Given the description of an element on the screen output the (x, y) to click on. 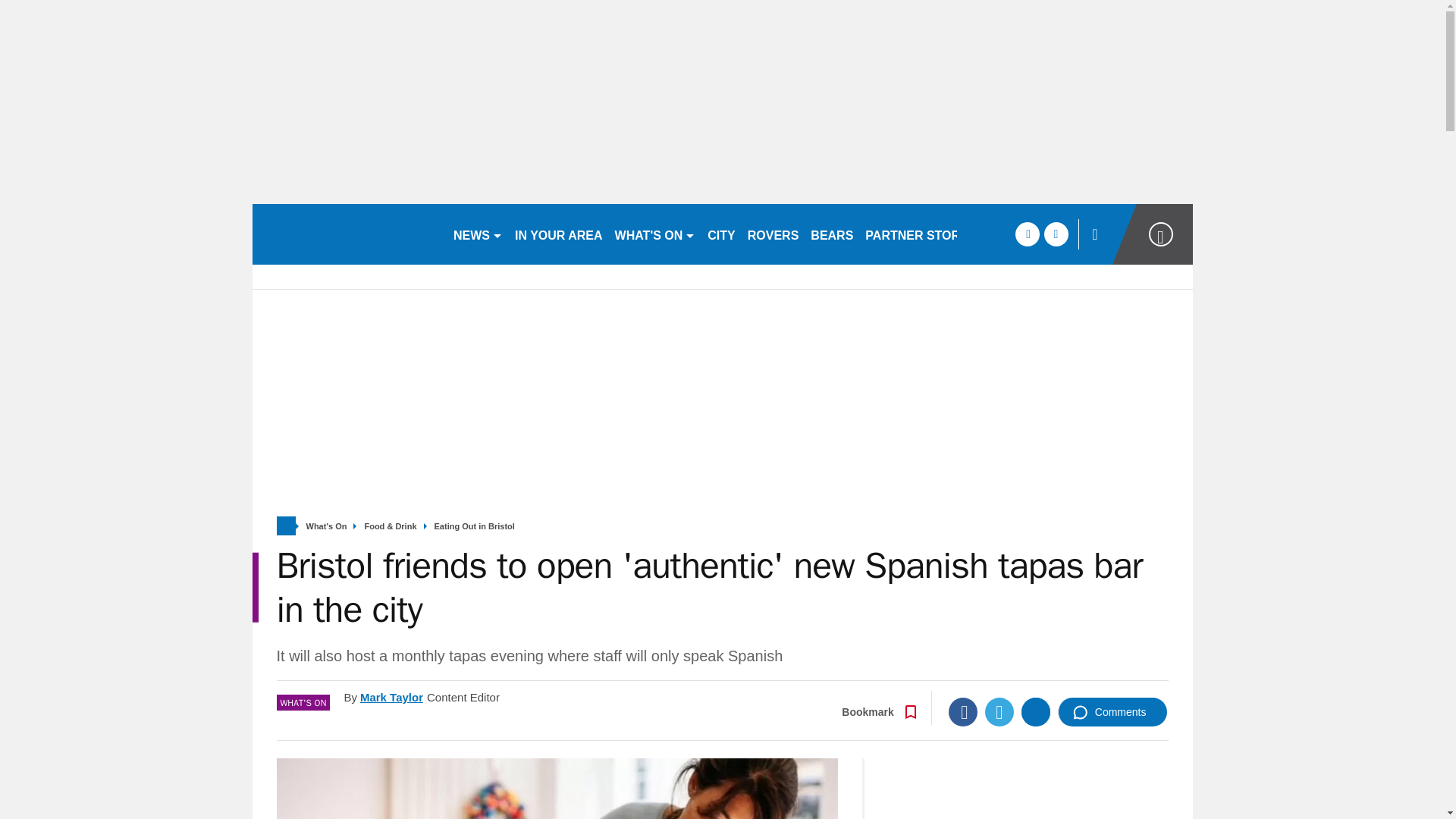
twitter (1055, 233)
NEWS (477, 233)
facebook (1026, 233)
Facebook (962, 711)
IN YOUR AREA (558, 233)
WHAT'S ON (654, 233)
bristolpost (345, 233)
ROVERS (773, 233)
BEARS (832, 233)
Comments (1112, 711)
